Given the description of an element on the screen output the (x, y) to click on. 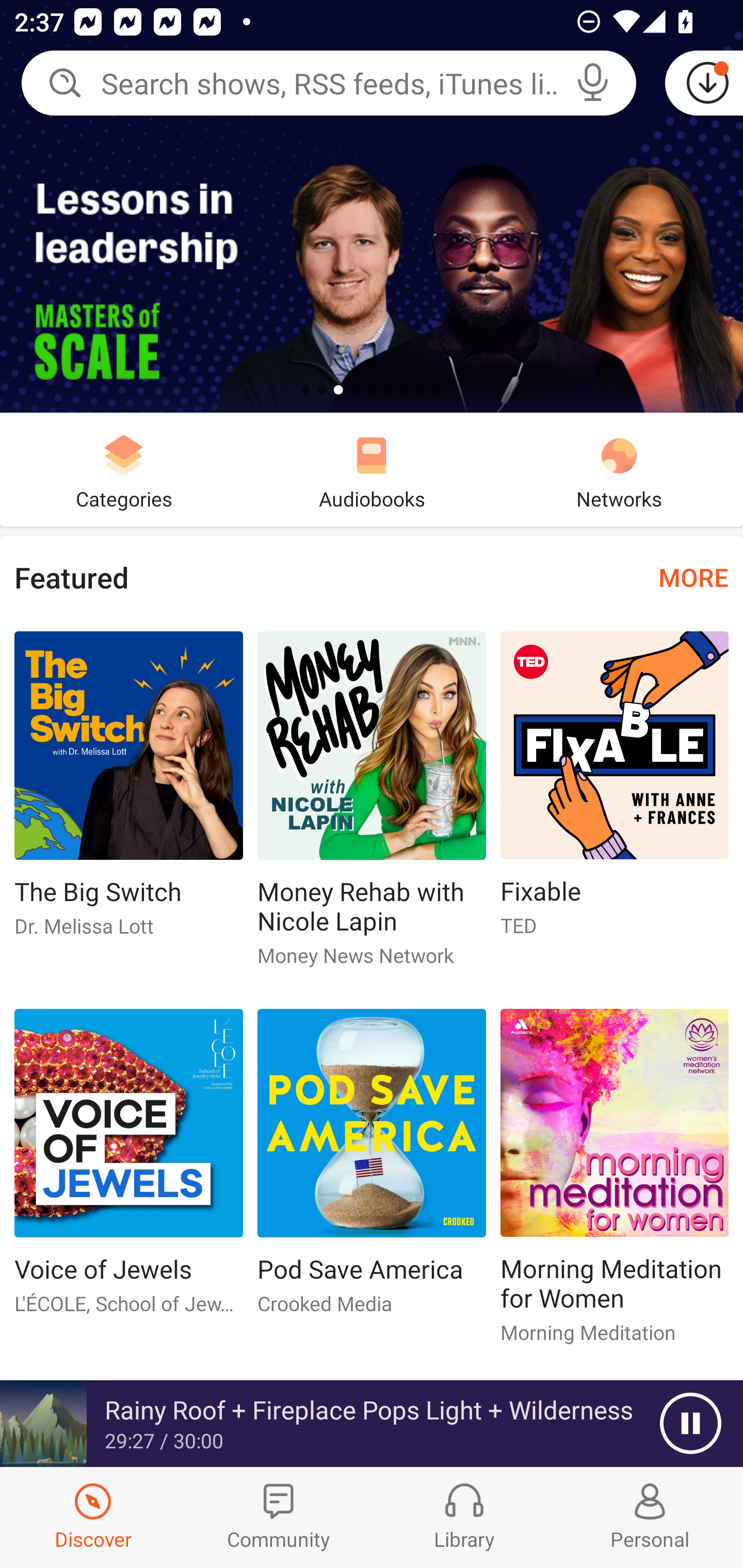
Masters of Scale (371, 206)
Categories (123, 469)
Audiobooks (371, 469)
Networks (619, 469)
MORE (693, 576)
The Big Switch The Big Switch Dr. Melissa Lott (128, 792)
Fixable Fixable TED (614, 792)
Pod Save America Pod Save America Crooked Media (371, 1169)
Pause (690, 1423)
Discover (92, 1517)
Community (278, 1517)
Library (464, 1517)
Profiles and Settings Personal (650, 1517)
